Given the description of an element on the screen output the (x, y) to click on. 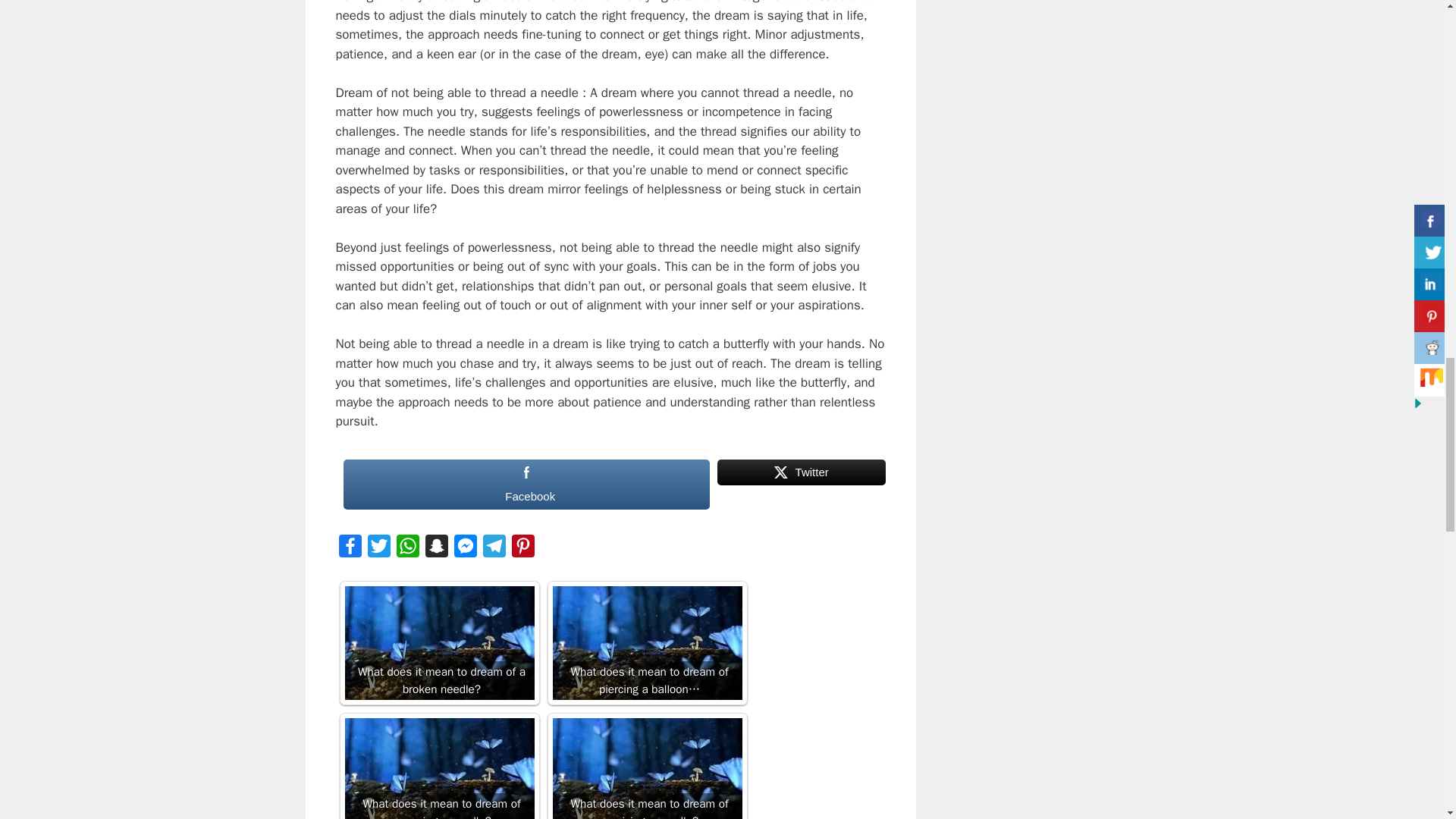
WhatsApp (407, 549)
Facebook (525, 484)
Snapchat (435, 549)
Twitter (801, 484)
Twitter (378, 549)
What does it mean to dream of a broken needle? (438, 643)
Pinterest (522, 549)
Facebook (349, 549)
Messenger (464, 549)
What does it mean to dream of removing a needle? (438, 768)
Telegram (493, 549)
What does it mean to dream of receiving a needle? (646, 768)
